Given the description of an element on the screen output the (x, y) to click on. 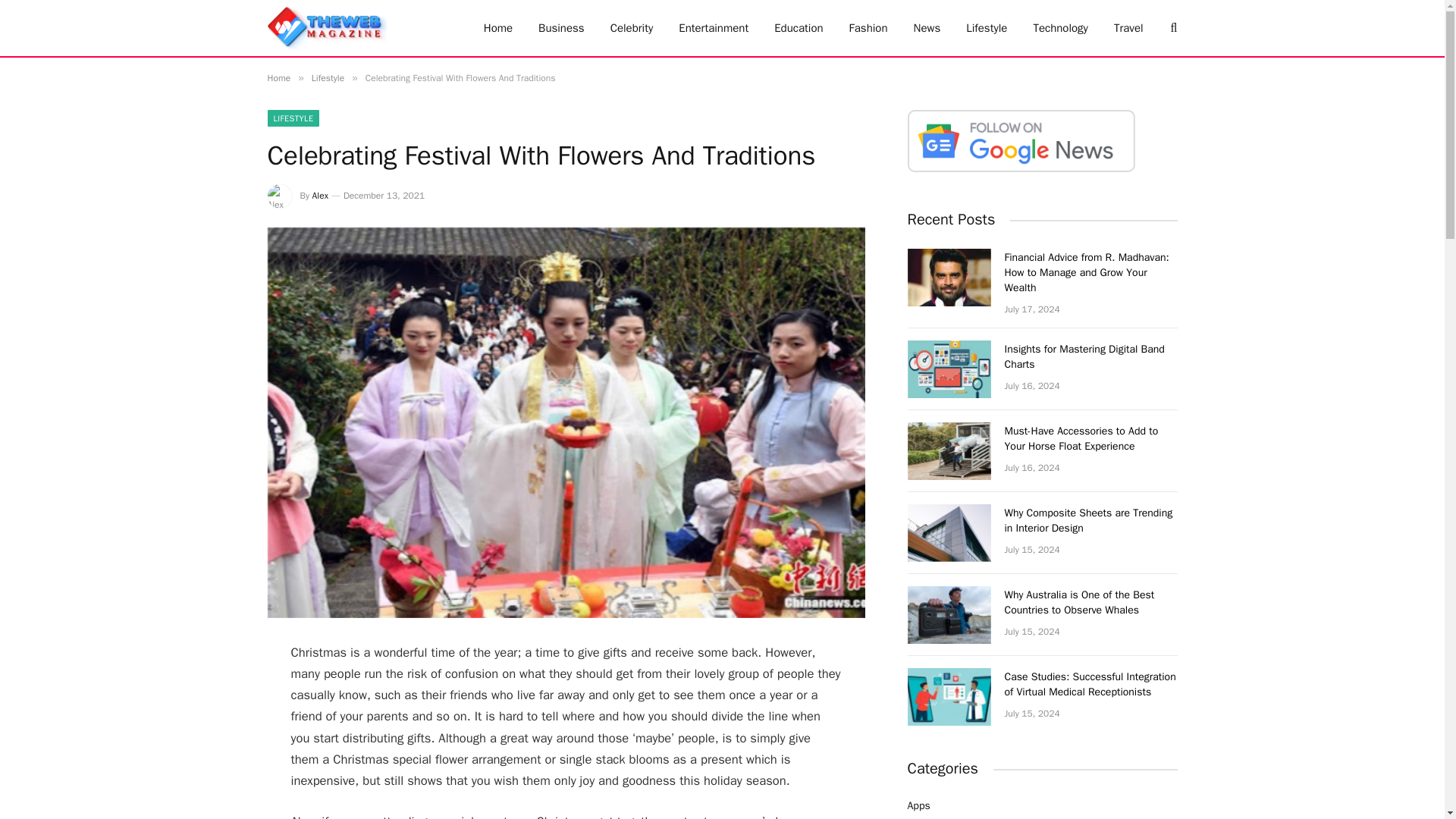
Entertainment (713, 28)
Celebrity (631, 28)
The Web Magazine (325, 28)
Alex (321, 195)
News (927, 28)
Home (497, 28)
Business (560, 28)
Technology (1060, 28)
Lifestyle (986, 28)
Lifestyle (327, 78)
Travel (1128, 28)
Home (277, 78)
Fashion (868, 28)
